Given the description of an element on the screen output the (x, y) to click on. 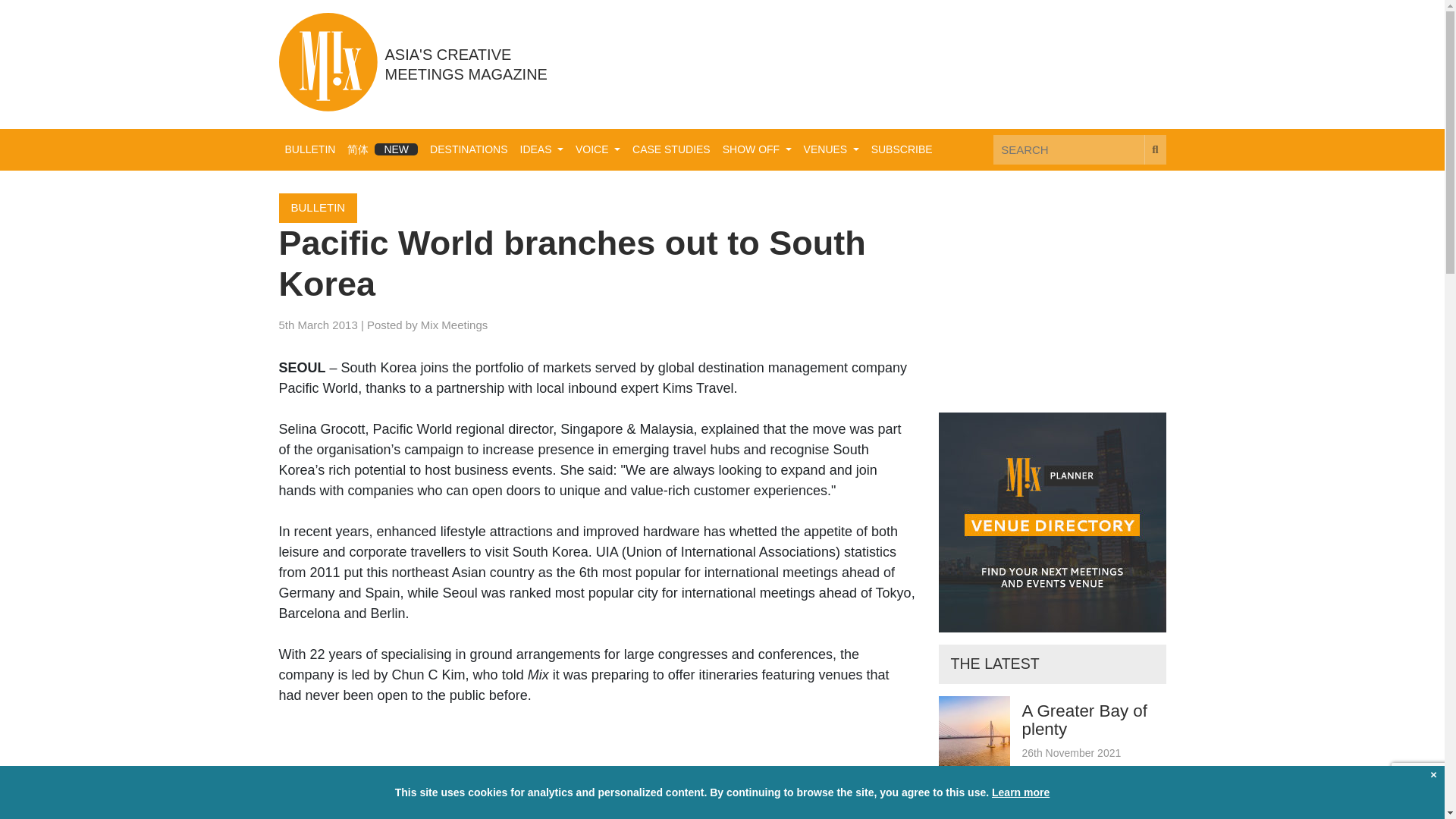
Case Studies (671, 149)
Bulletin (310, 149)
SHOW OFF (756, 149)
BULLETIN (310, 149)
Voice (597, 149)
3rd party ad content (890, 63)
VOICE (597, 149)
IDEAS (541, 149)
SUBSCRIBE (901, 149)
Ideas (541, 149)
Mix Meetings (453, 324)
DESTINATIONS (468, 149)
BULLETIN (318, 207)
Destinations (468, 149)
